Given the description of an element on the screen output the (x, y) to click on. 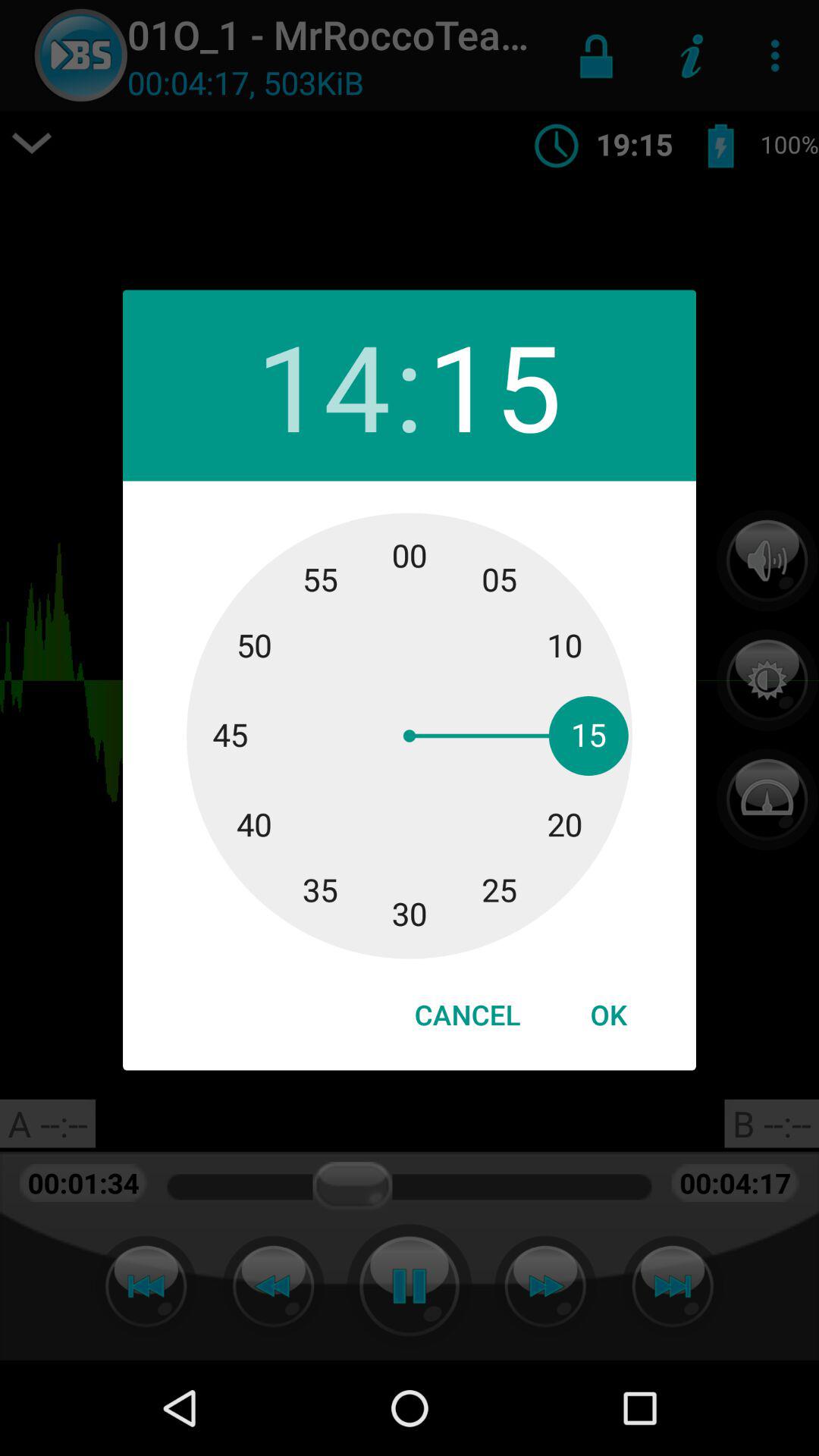
launch item next to the : (494, 384)
